Given the description of an element on the screen output the (x, y) to click on. 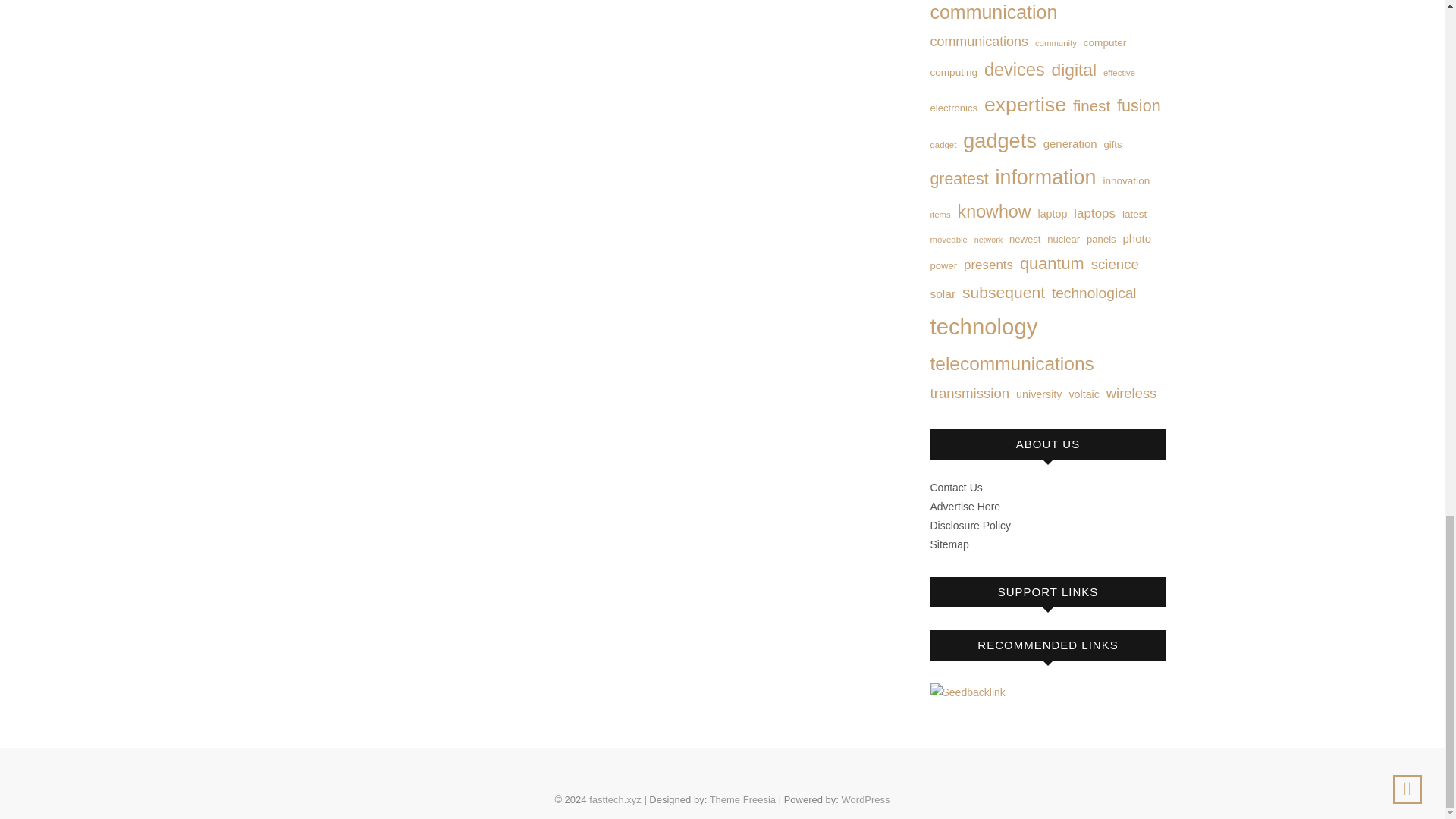
WordPress (865, 799)
fasttech.xyz (615, 799)
Seedbacklink (967, 692)
Theme Freesia (743, 799)
